Given the description of an element on the screen output the (x, y) to click on. 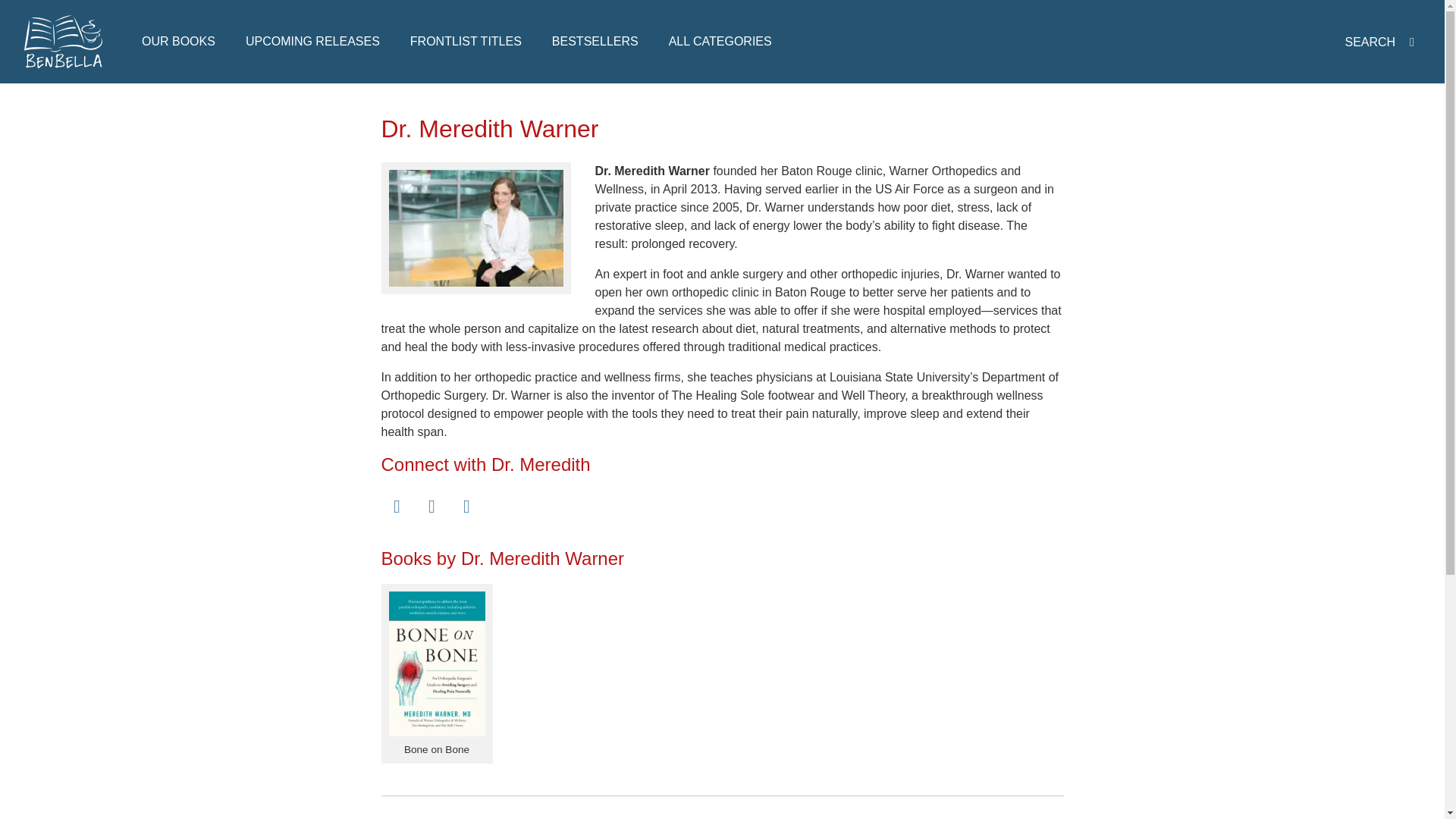
Search (694, 133)
Search (1147, 329)
ALL CATEGORIES (720, 41)
UPCOMING RELEASES (312, 41)
BESTSELLERS (595, 41)
Search (1147, 133)
FRONTLIST TITLES (465, 41)
SEARCH (1382, 42)
OUR BOOKS (178, 41)
search (1382, 42)
